Given the description of an element on the screen output the (x, y) to click on. 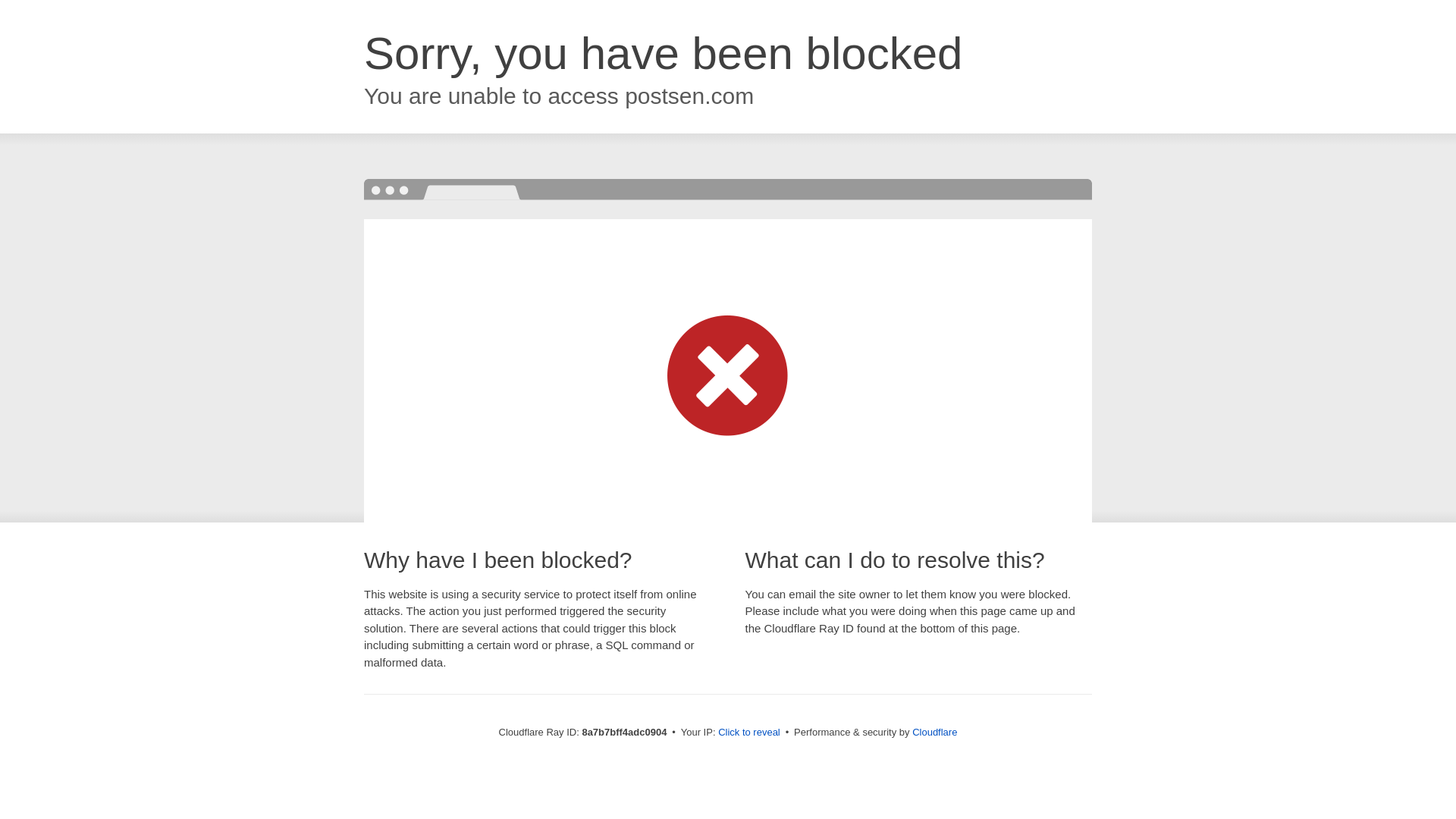
Cloudflare (934, 731)
Click to reveal (748, 732)
